Given the description of an element on the screen output the (x, y) to click on. 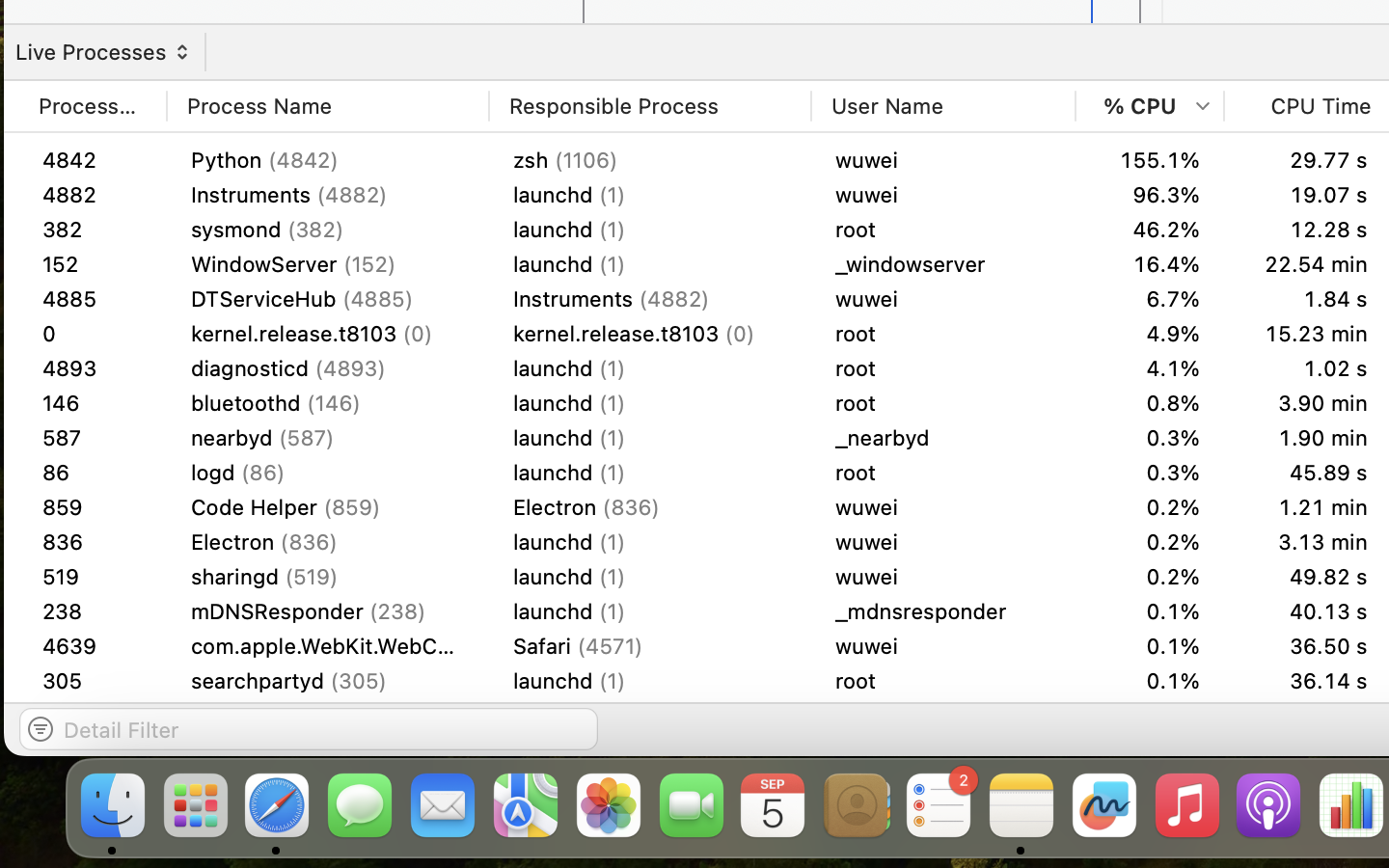
com.apple.WebKit.WebContent (2392) Element type: AXStaticText (327, 749)
4893 Element type: AXStaticText (92, 437)
0.7% Element type: AXStaticText (1149, 437)
6.11 s Element type: AXStaticText (1307, 749)
575 Element type: AXStaticText (92, 506)
